Given the description of an element on the screen output the (x, y) to click on. 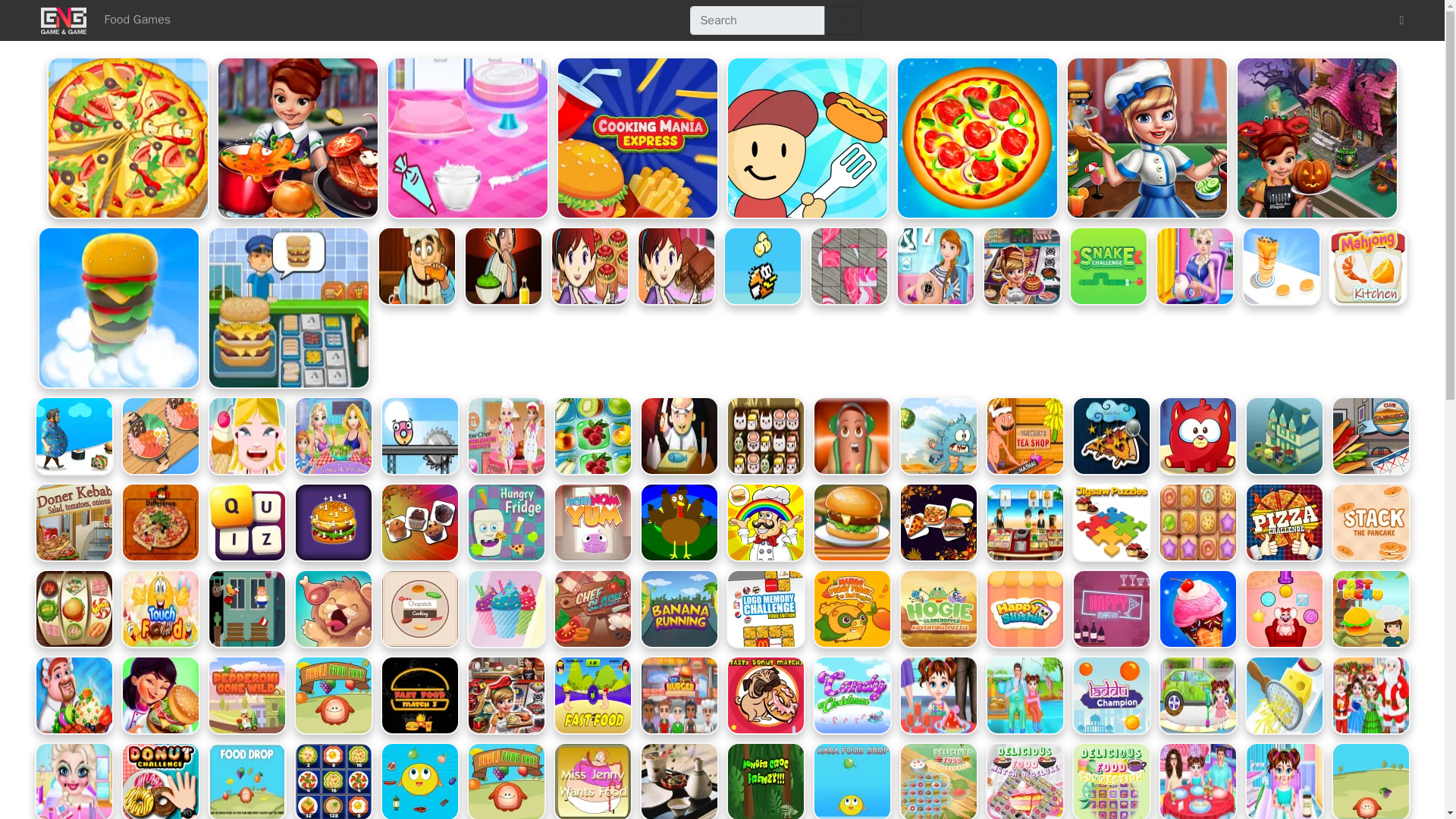
Sara's Cooking Class: Caramel Brownie (676, 265)
Bake Time Hot Dogs (288, 307)
Pancake Bar (417, 265)
Cooking Fast: Hotdogs And Burgers Craze (297, 137)
Search (842, 20)
Ice Princess Pregnant Caring (1195, 265)
Cherry Blossom Cake Cooking (467, 137)
Cooking Scene (1146, 137)
Cooking Fast 3 Ribs And Pancakes (1021, 265)
Sky Burger (118, 307)
Bake Time Pizzas (127, 137)
Cooking Mania Express (637, 137)
Pizza Clicker Tycoon (977, 137)
Salad Bar (503, 265)
Eatventure (807, 137)
